Given the description of an element on the screen output the (x, y) to click on. 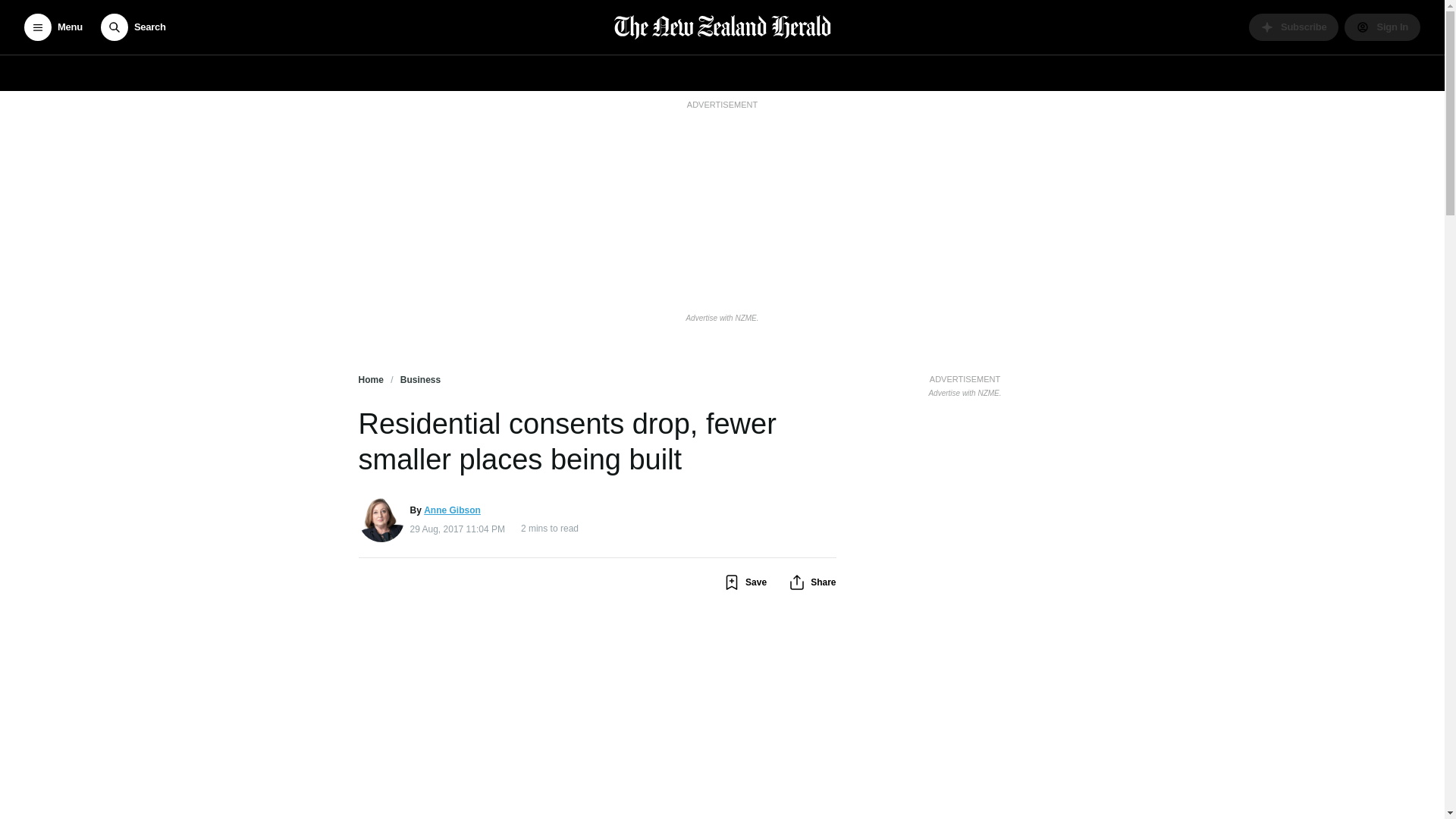
Search (132, 26)
Subscribe (1294, 26)
Menu (53, 26)
Sign In (1382, 26)
Manage your account (1382, 26)
